Given the description of an element on the screen output the (x, y) to click on. 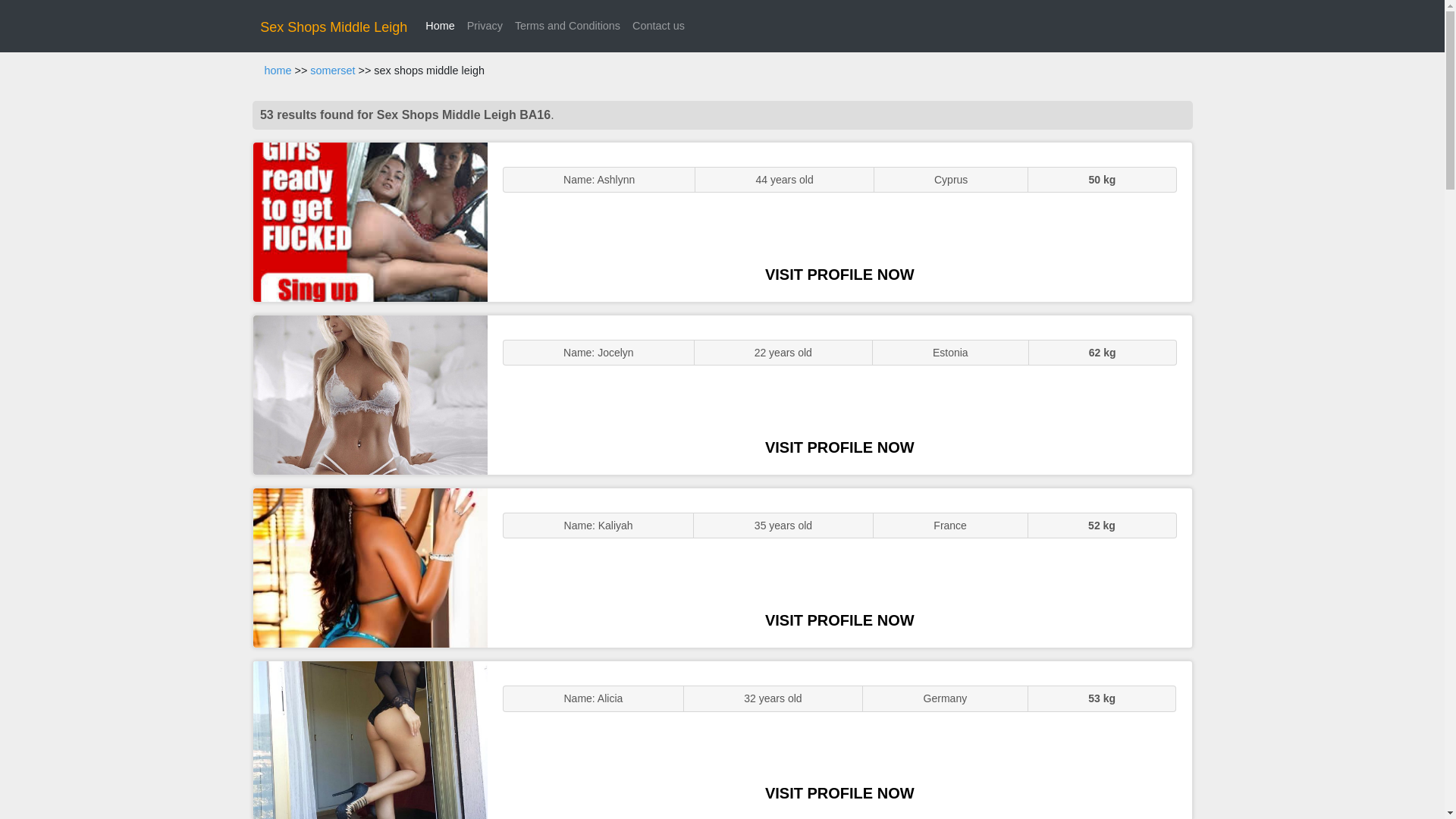
Sexy (370, 567)
VISIT PROFILE NOW (839, 619)
Sex Shops Middle Leigh (333, 27)
home (277, 70)
VISIT PROFILE NOW (839, 792)
 ENGLISH STUNNER (370, 222)
VISIT PROFILE NOW (839, 274)
Terms and Conditions (567, 25)
Privacy (484, 25)
somerset (332, 70)
Contact us (658, 25)
GFE (370, 395)
VISIT PROFILE NOW (839, 446)
Sluts (370, 739)
